Given the description of an element on the screen output the (x, y) to click on. 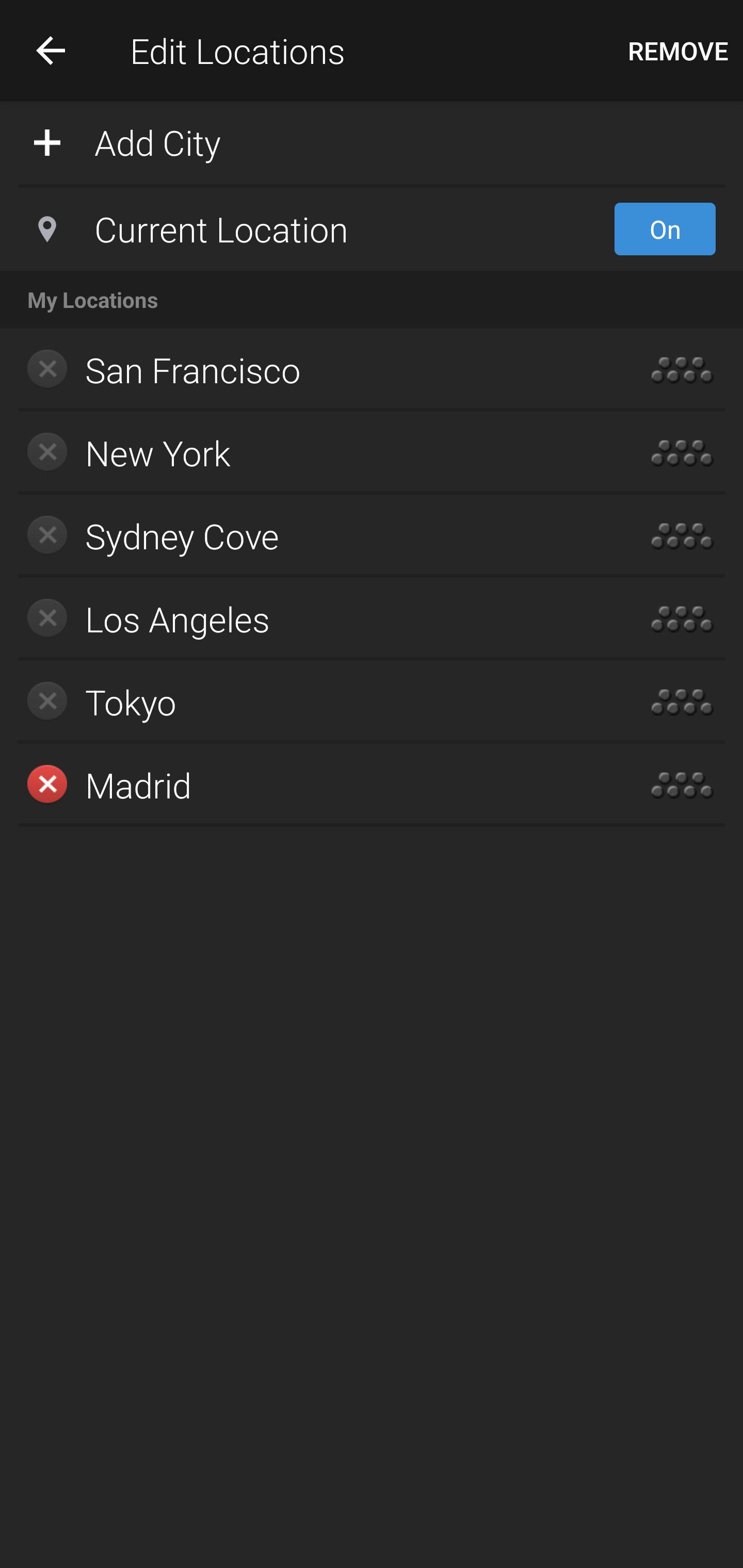
Navigate up (50, 50)
REMOVE (677, 50)
Add City (371, 141)
Current Location: On Current Location On (371, 229)
Delete: San Francisco San Francisco (311, 369)
Delete: New York New York (311, 452)
Delete: Sydney Cove Sydney Cove (311, 535)
Delete: Los Angeles Los Angeles (311, 618)
Delete: Tokyo Tokyo (311, 701)
Delete: Madrid: Selected Madrid (311, 784)
